Given the description of an element on the screen output the (x, y) to click on. 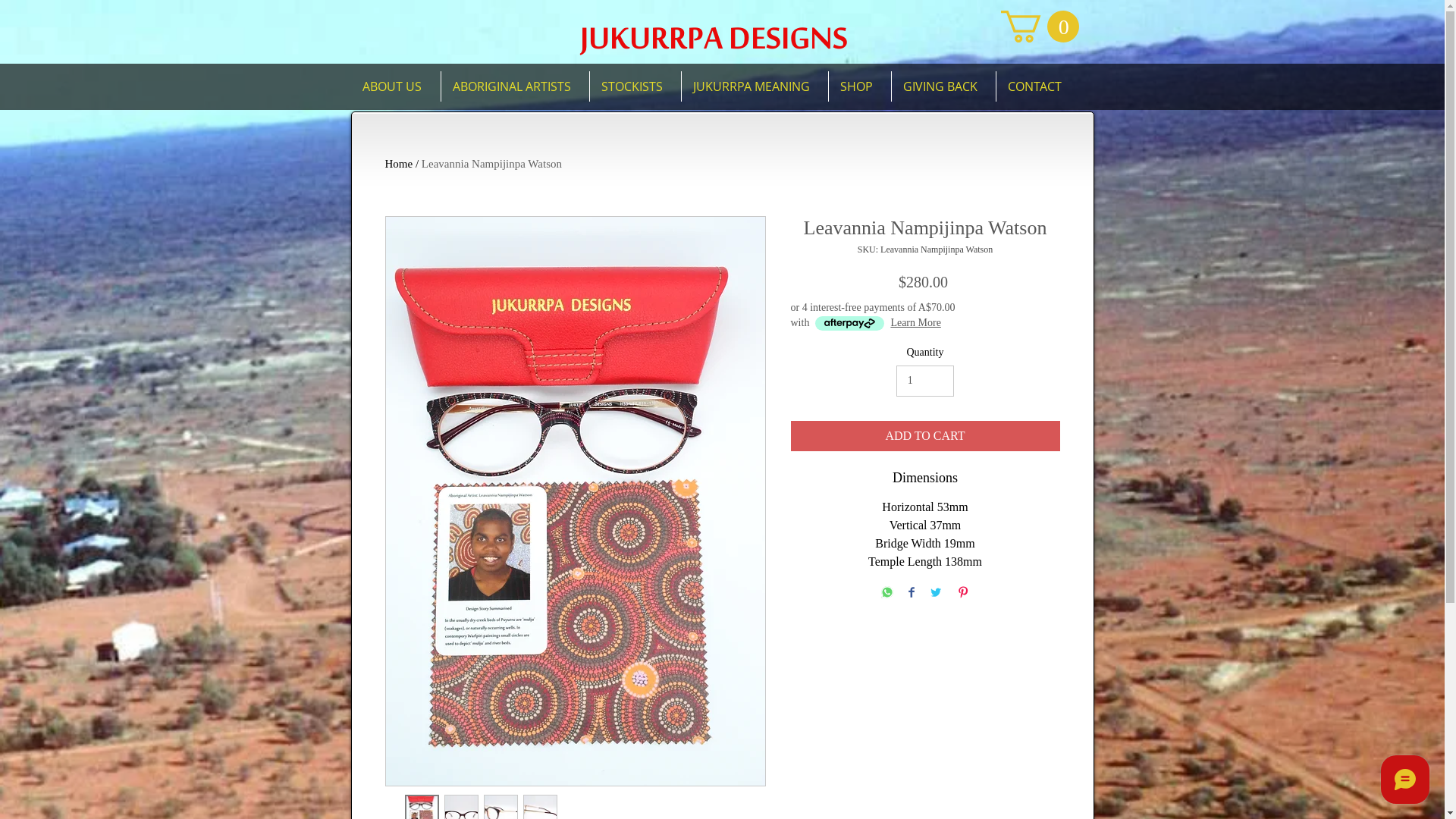
Learn More Element type: text (915, 322)
Leavannia Nampijinpa Watson Element type: text (491, 163)
0 Element type: text (1040, 26)
JUKURRPA MEANING Element type: text (753, 86)
ABOUT US Element type: text (394, 86)
SHOP Element type: text (859, 86)
Home Element type: text (399, 163)
ADD TO CART Element type: text (924, 435)
ABORIGINAL ARTISTS Element type: text (515, 86)
CONTACT Element type: text (1037, 86)
GIVING BACK Element type: text (943, 86)
STOCKISTS Element type: text (634, 86)
